Given the description of an element on the screen output the (x, y) to click on. 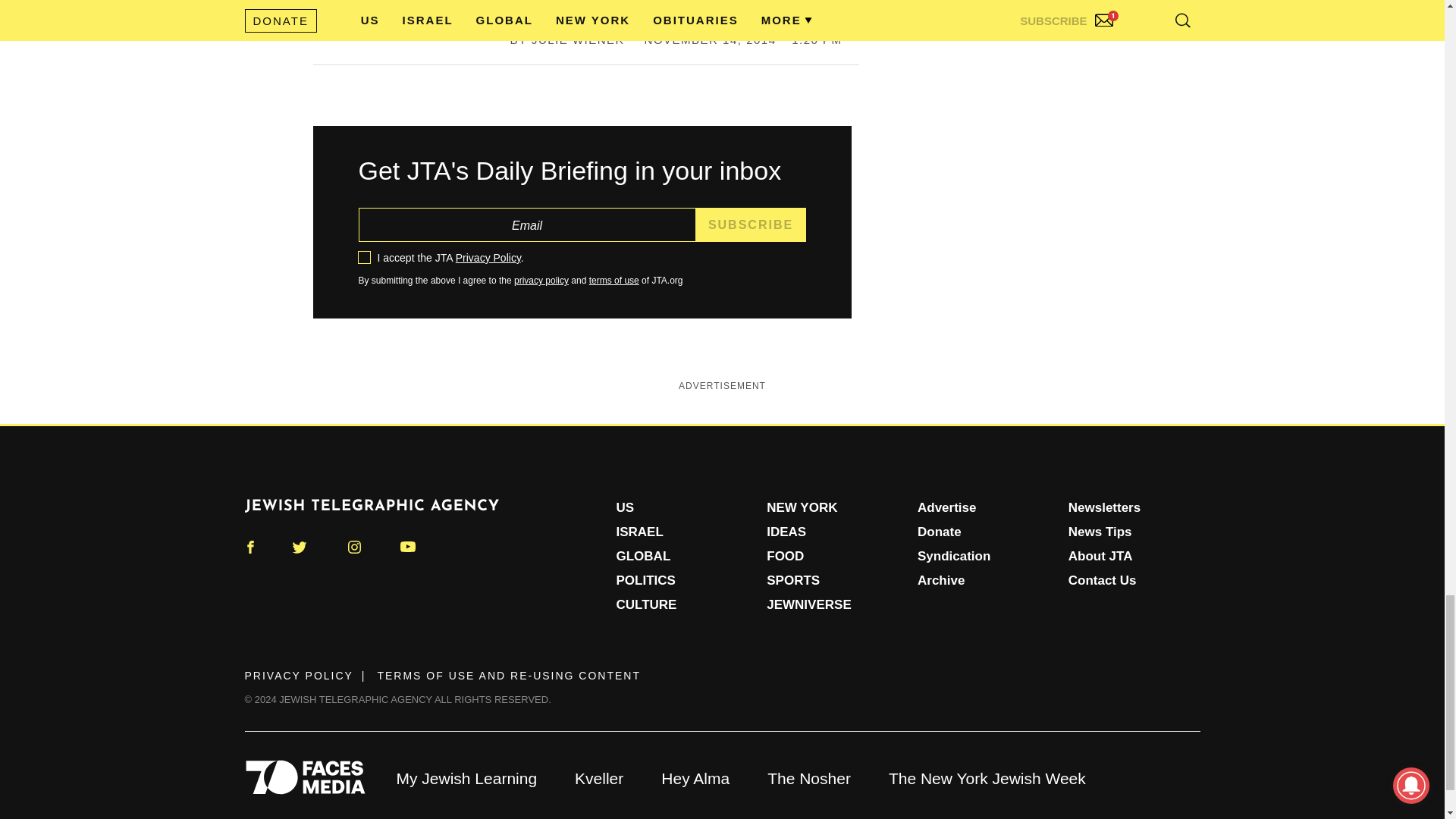
Subscribe (750, 224)
